Given the description of an element on the screen output the (x, y) to click on. 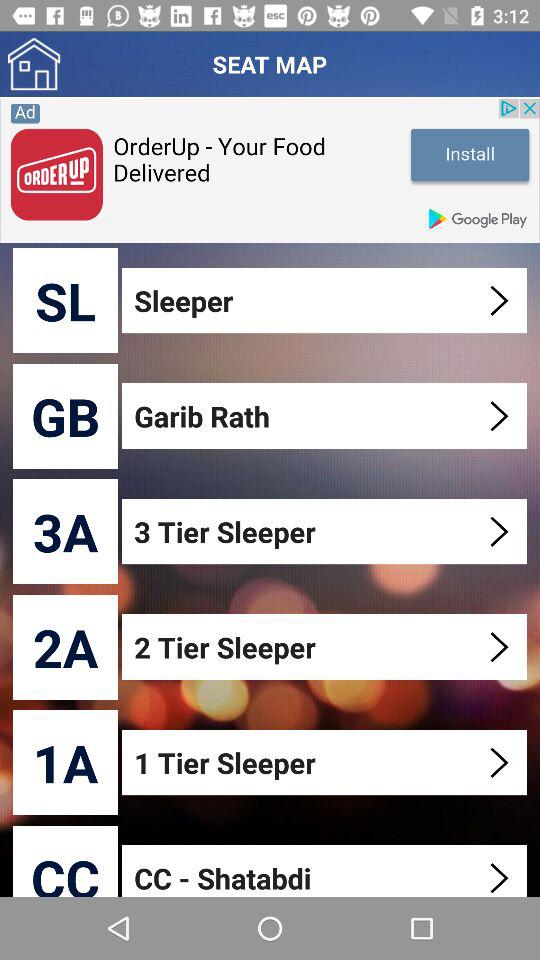
turn off sl item (65, 300)
